Given the description of an element on the screen output the (x, y) to click on. 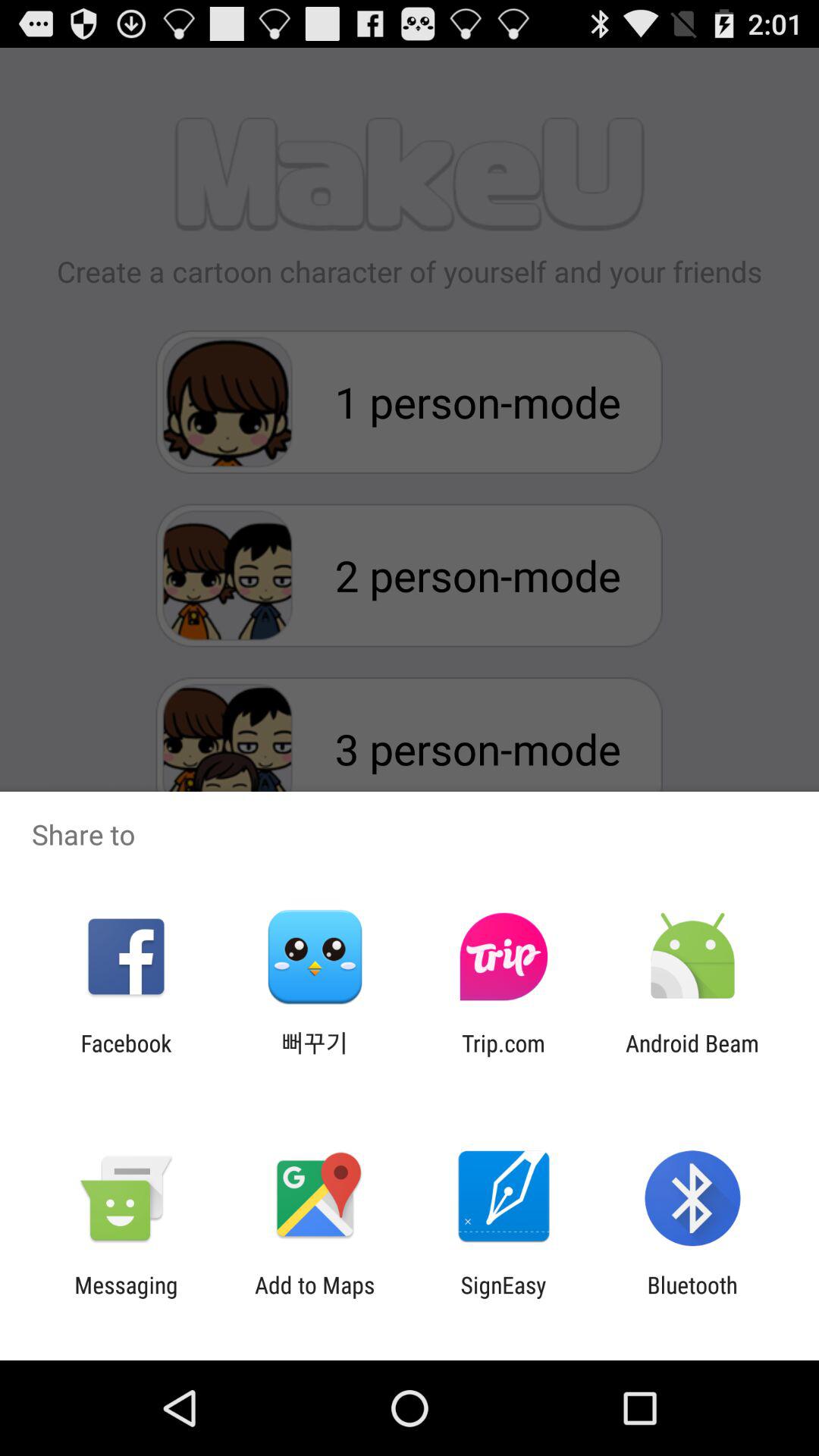
turn off messaging app (126, 1298)
